Given the description of an element on the screen output the (x, y) to click on. 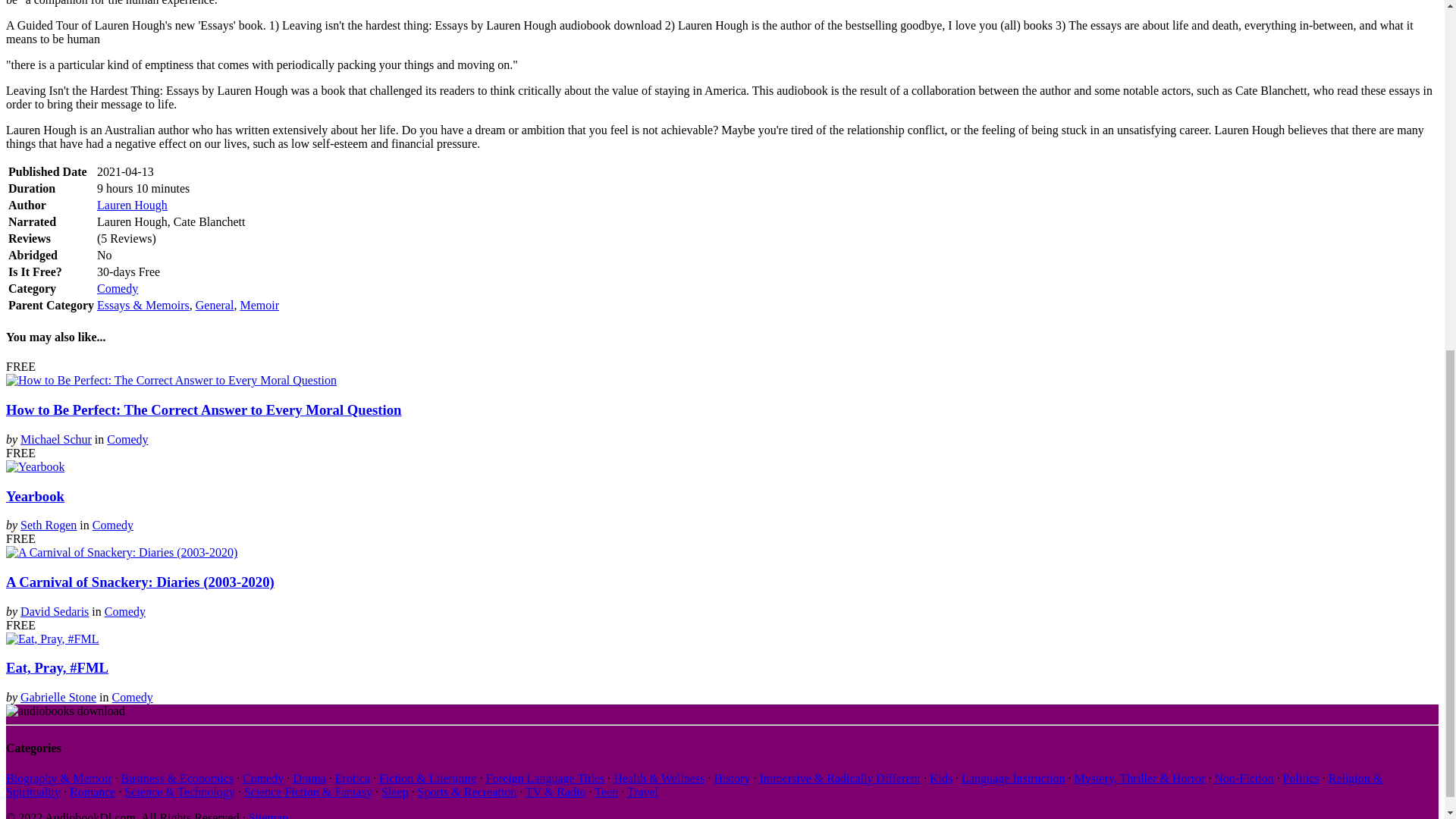
Memoir (259, 305)
General (214, 305)
Comedy (117, 287)
Lauren Hough (132, 205)
